Given the description of an element on the screen output the (x, y) to click on. 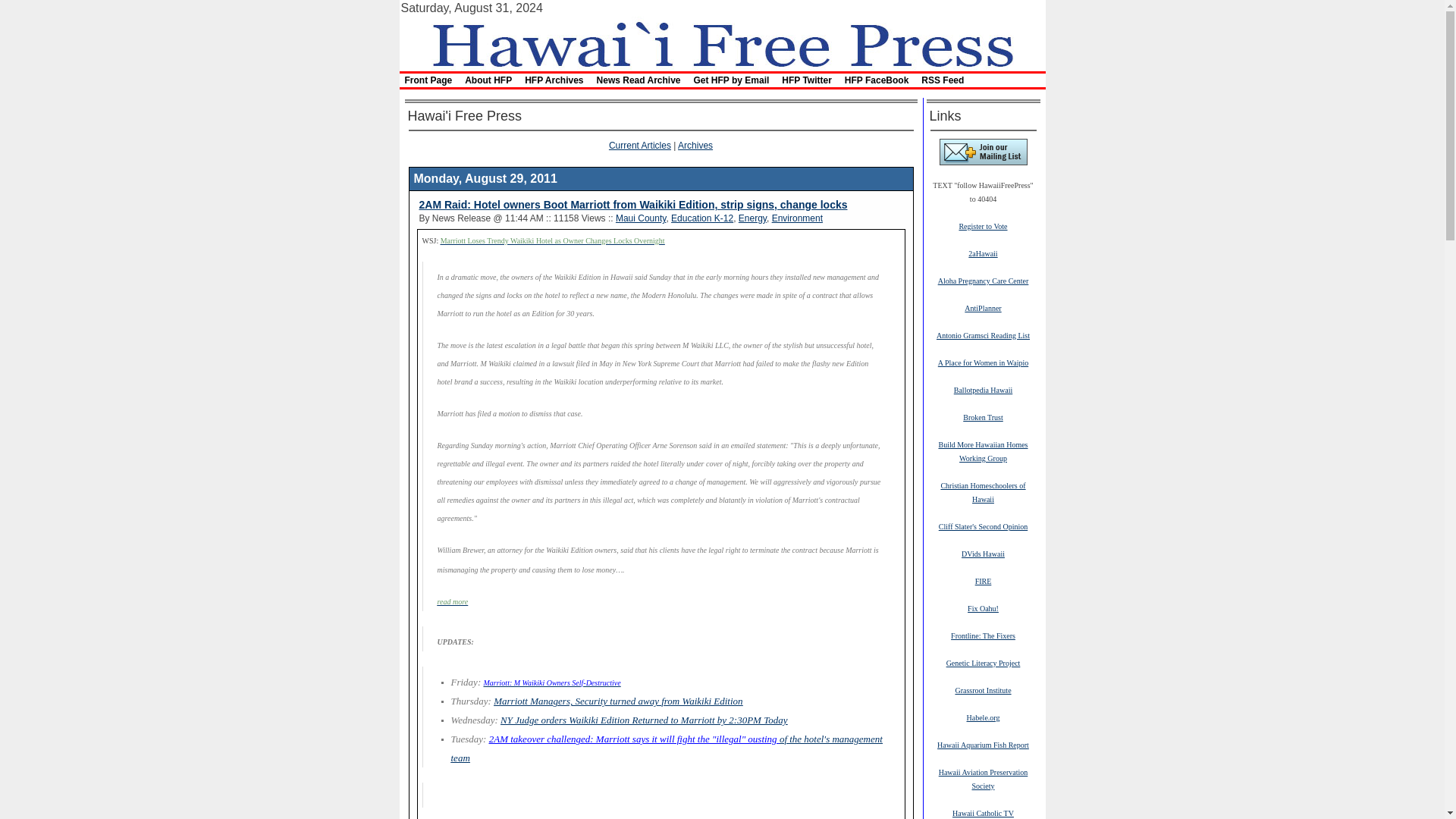
Marriott Managers, Security turned away from Waikiki Edition (617, 701)
Hawaii Free Press (721, 42)
Ballotpedia Hawaii (982, 389)
Aloha Pregnancy Care Center (983, 280)
DVids Hawaii (982, 552)
of the hotel's management team (665, 748)
